Given the description of an element on the screen output the (x, y) to click on. 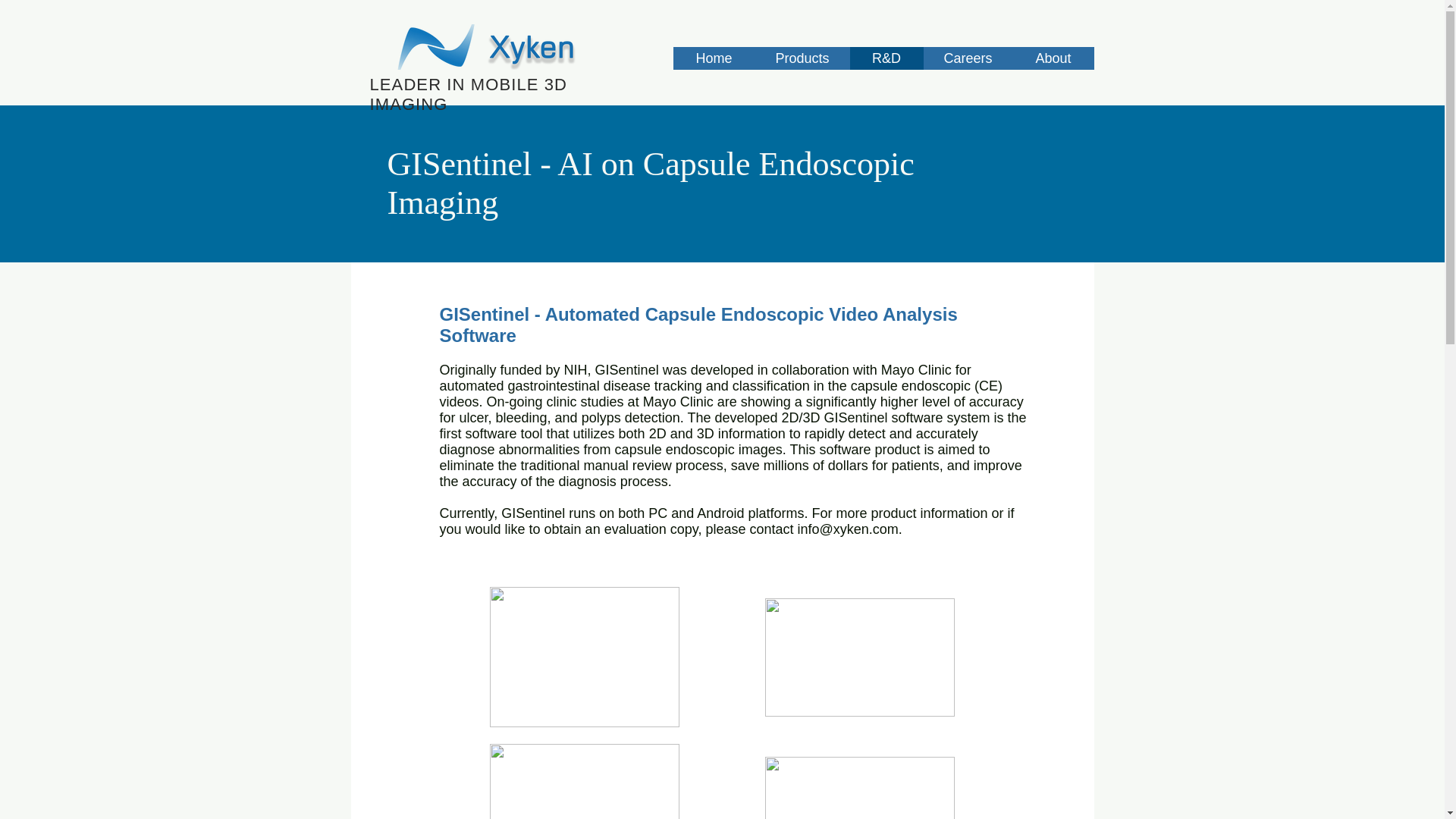
Careers (968, 57)
Products (802, 57)
About (1053, 57)
Home (713, 57)
